Given the description of an element on the screen output the (x, y) to click on. 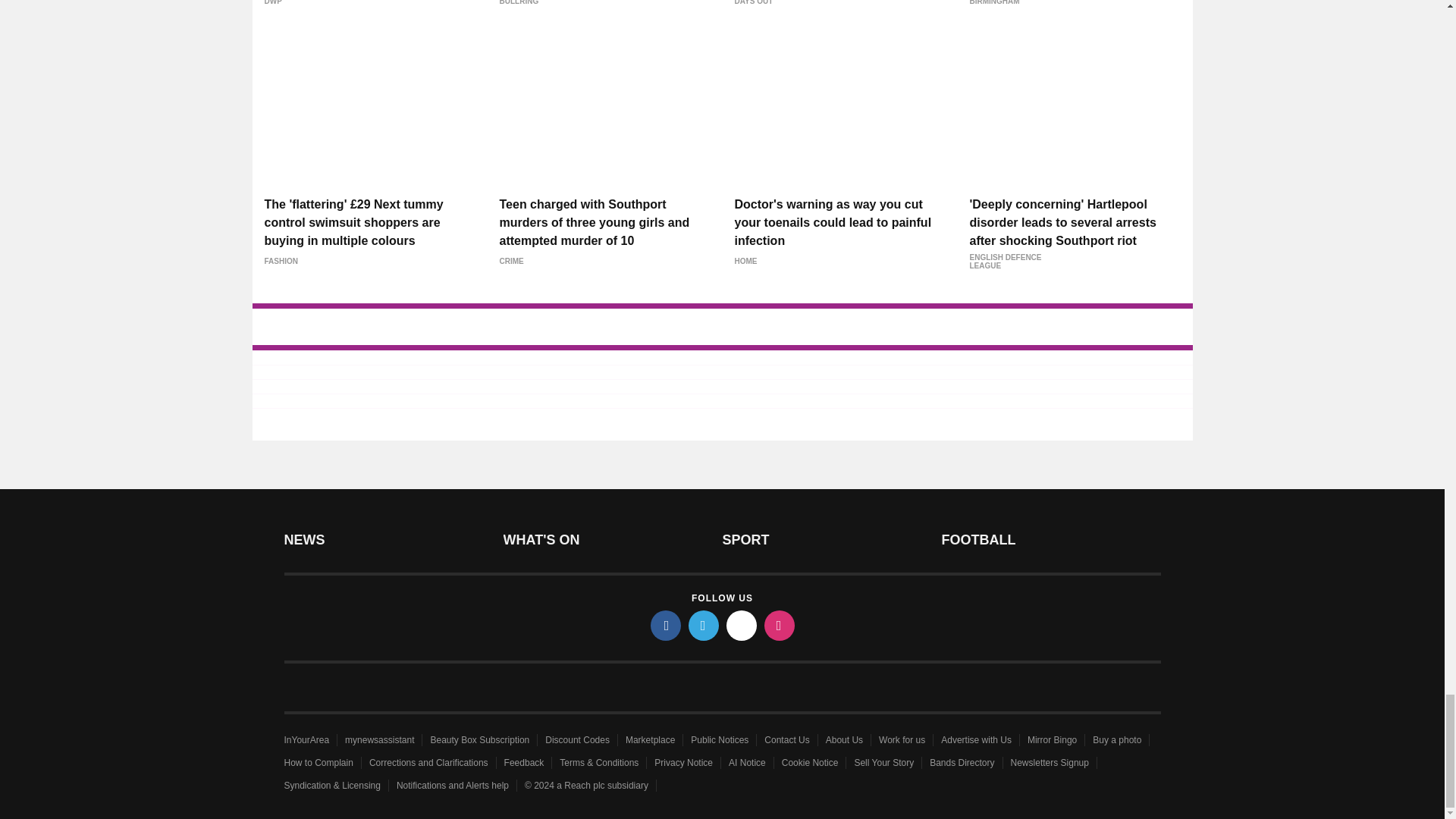
twitter (703, 625)
facebook (665, 625)
instagram (779, 625)
tiktok (741, 625)
